Given the description of an element on the screen output the (x, y) to click on. 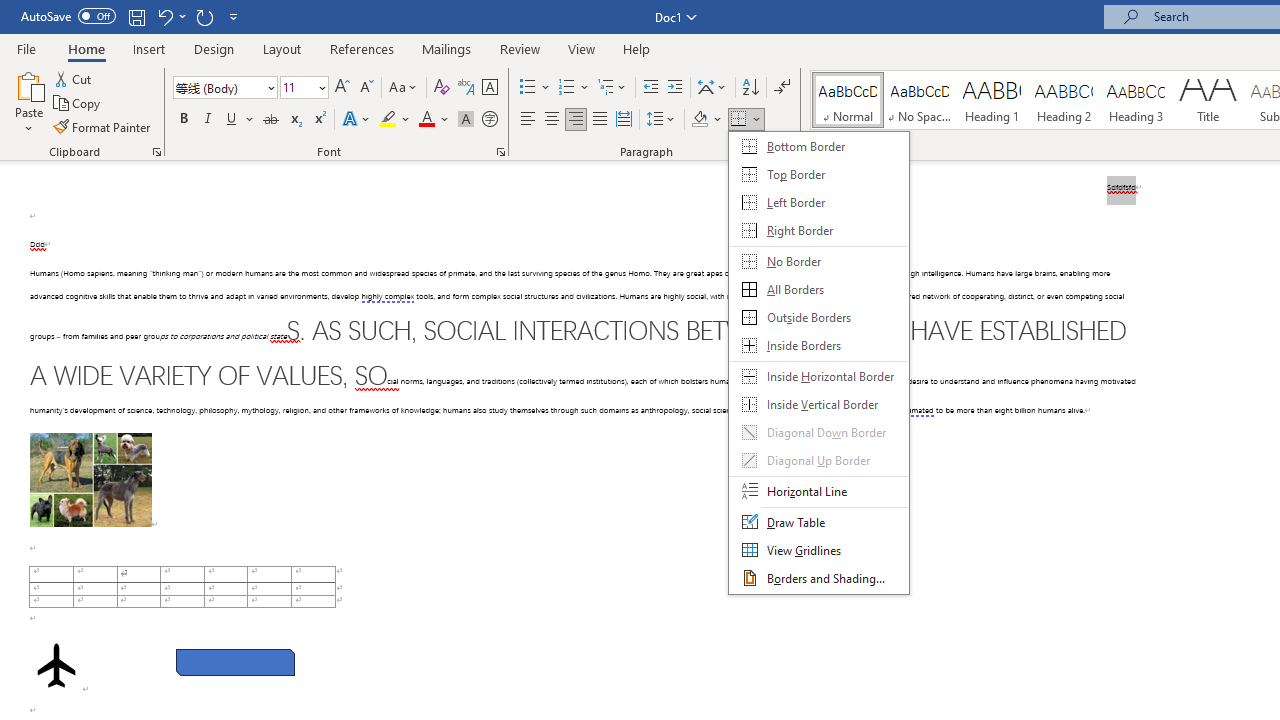
Distributed (623, 119)
AutoSave (68, 16)
Underline (239, 119)
Change Case (404, 87)
Design (214, 48)
Font Color (434, 119)
Character Border (489, 87)
Text Effects and Typography (357, 119)
Help (637, 48)
Character Shading (465, 119)
Heading 3 (1135, 100)
Multilevel List (613, 87)
Heading 2 (1063, 100)
Bullets (535, 87)
Airplane with solid fill (56, 665)
